Given the description of an element on the screen output the (x, y) to click on. 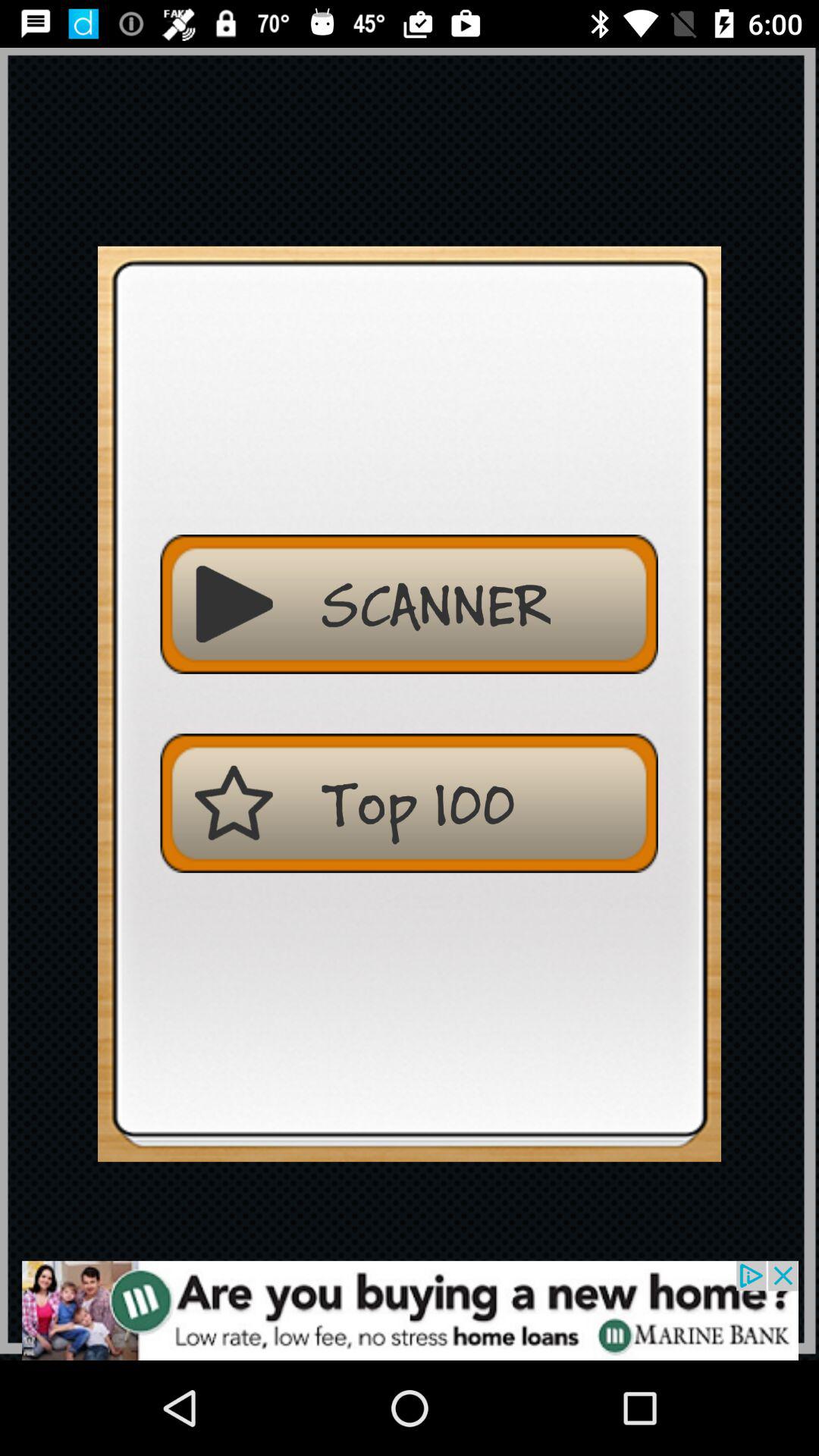
advertisement display (409, 1310)
